Given the description of an element on the screen output the (x, y) to click on. 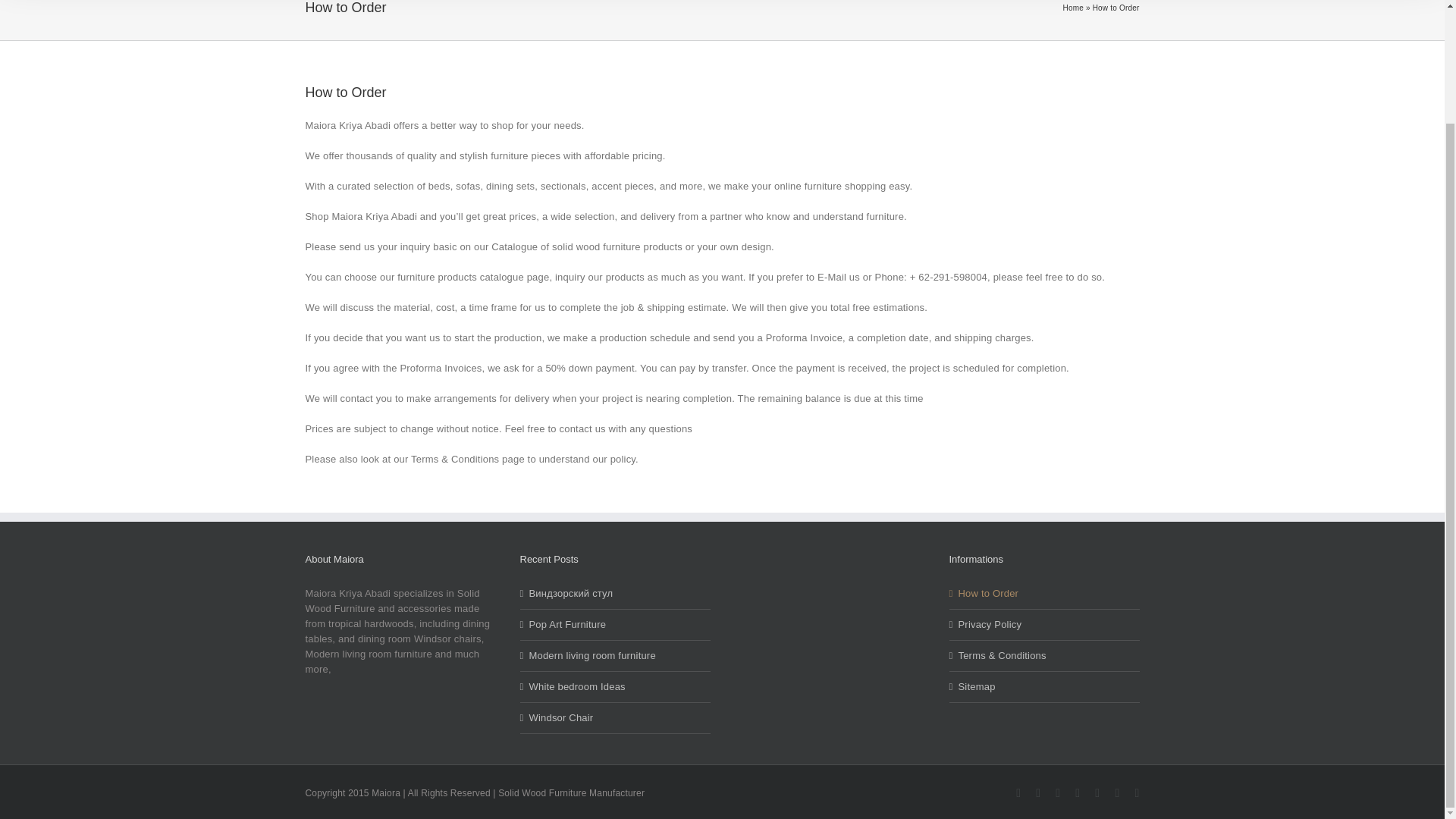
White bedroom Ideas (616, 686)
Home (1072, 8)
Sitemap (1045, 686)
Windsor Chair (616, 717)
Pop Art Furniture (616, 624)
Modern living room furniture (616, 655)
How to Order (1045, 593)
Privacy Policy (1045, 624)
Log In (1309, 12)
